Given the description of an element on the screen output the (x, y) to click on. 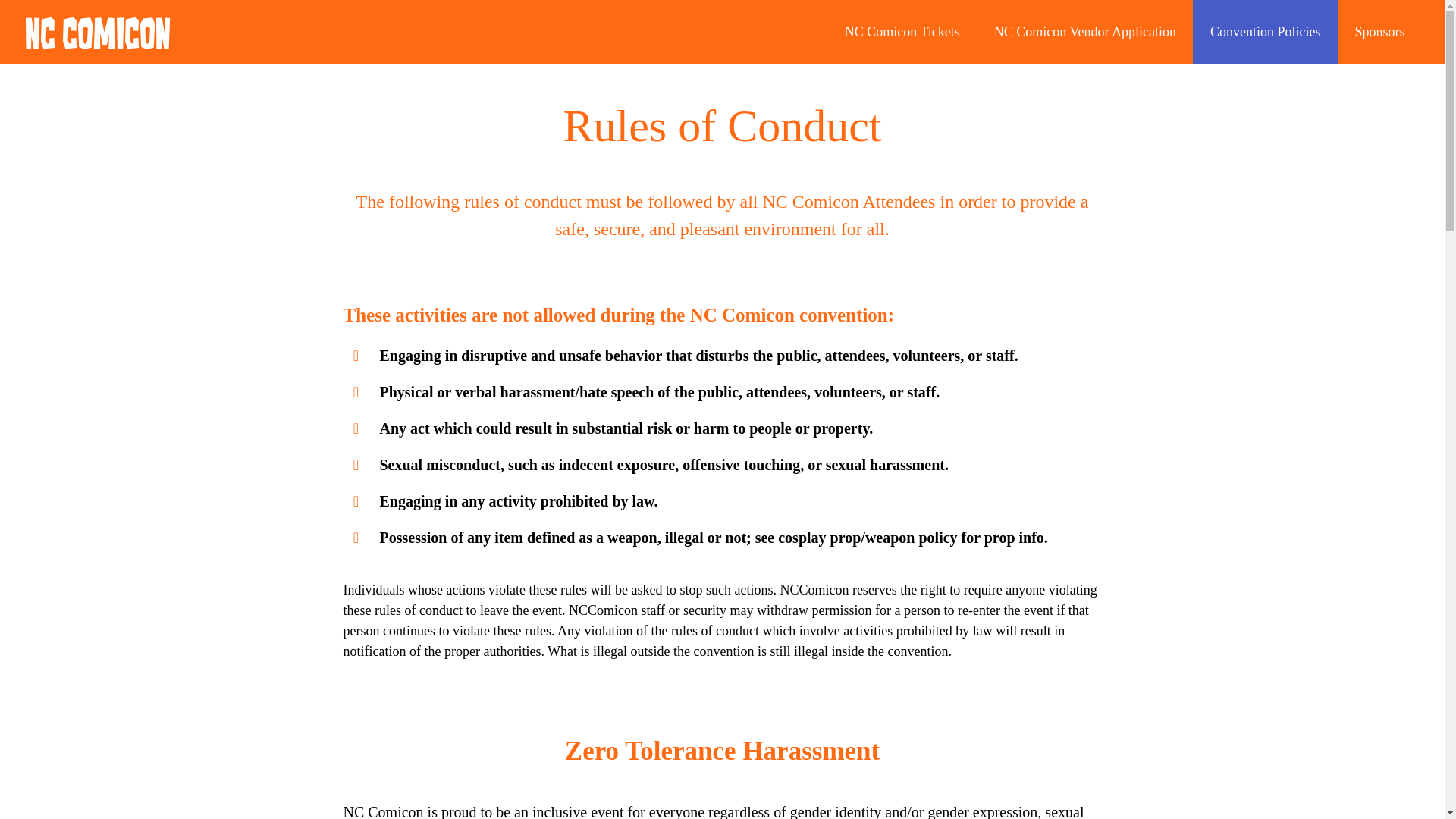
NC Comicon Tickets (901, 31)
NC Comicon Vendor Application (1084, 31)
Sponsors (1380, 31)
Convention Policies (1265, 31)
